Given the description of an element on the screen output the (x, y) to click on. 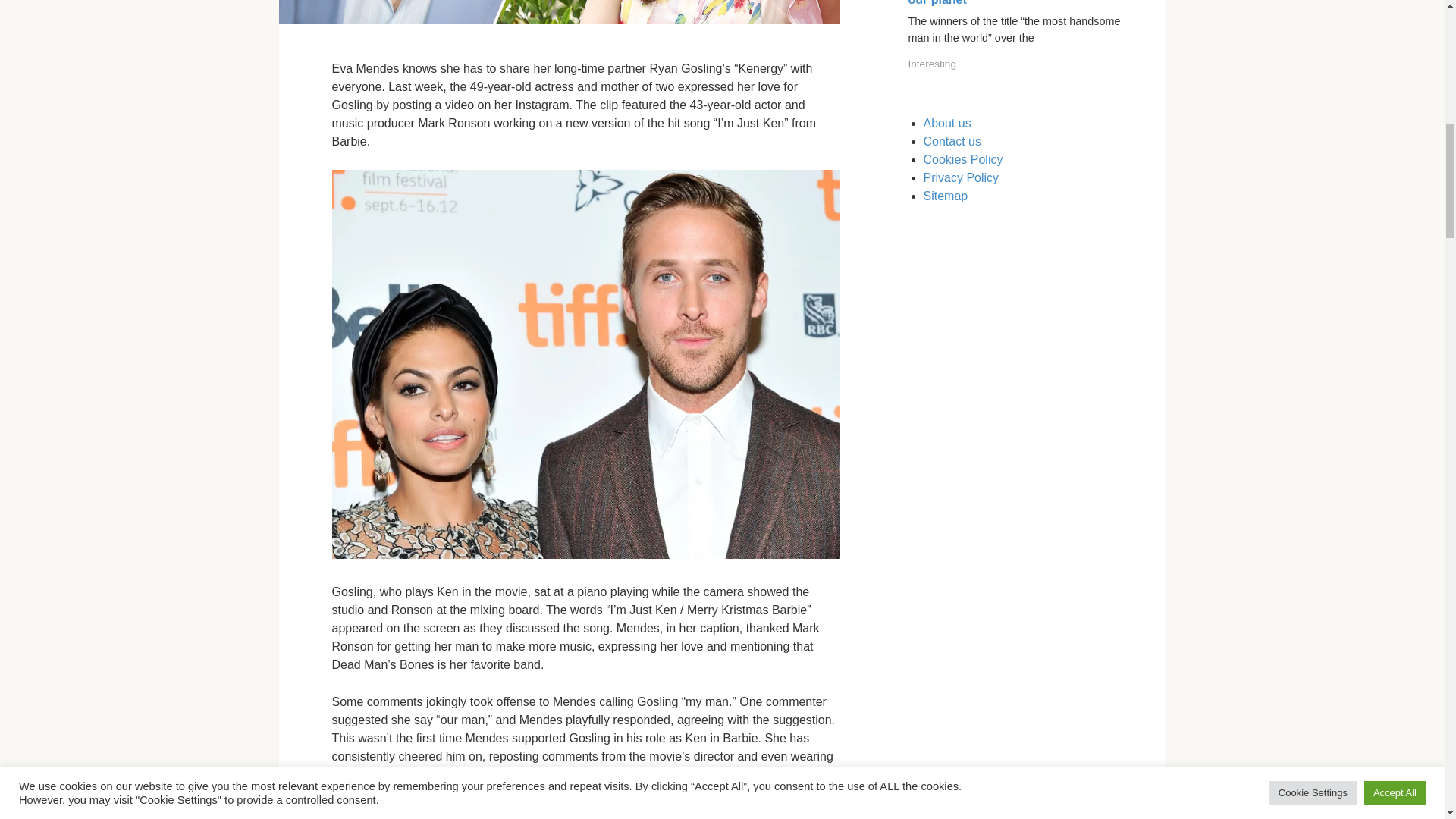
Sitemap (945, 195)
The most handsome famous men on our planet (1013, 2)
About us (947, 123)
Cookies Policy (963, 159)
Contact us (952, 141)
Privacy Policy (960, 177)
Interesting (932, 63)
